Given the description of an element on the screen output the (x, y) to click on. 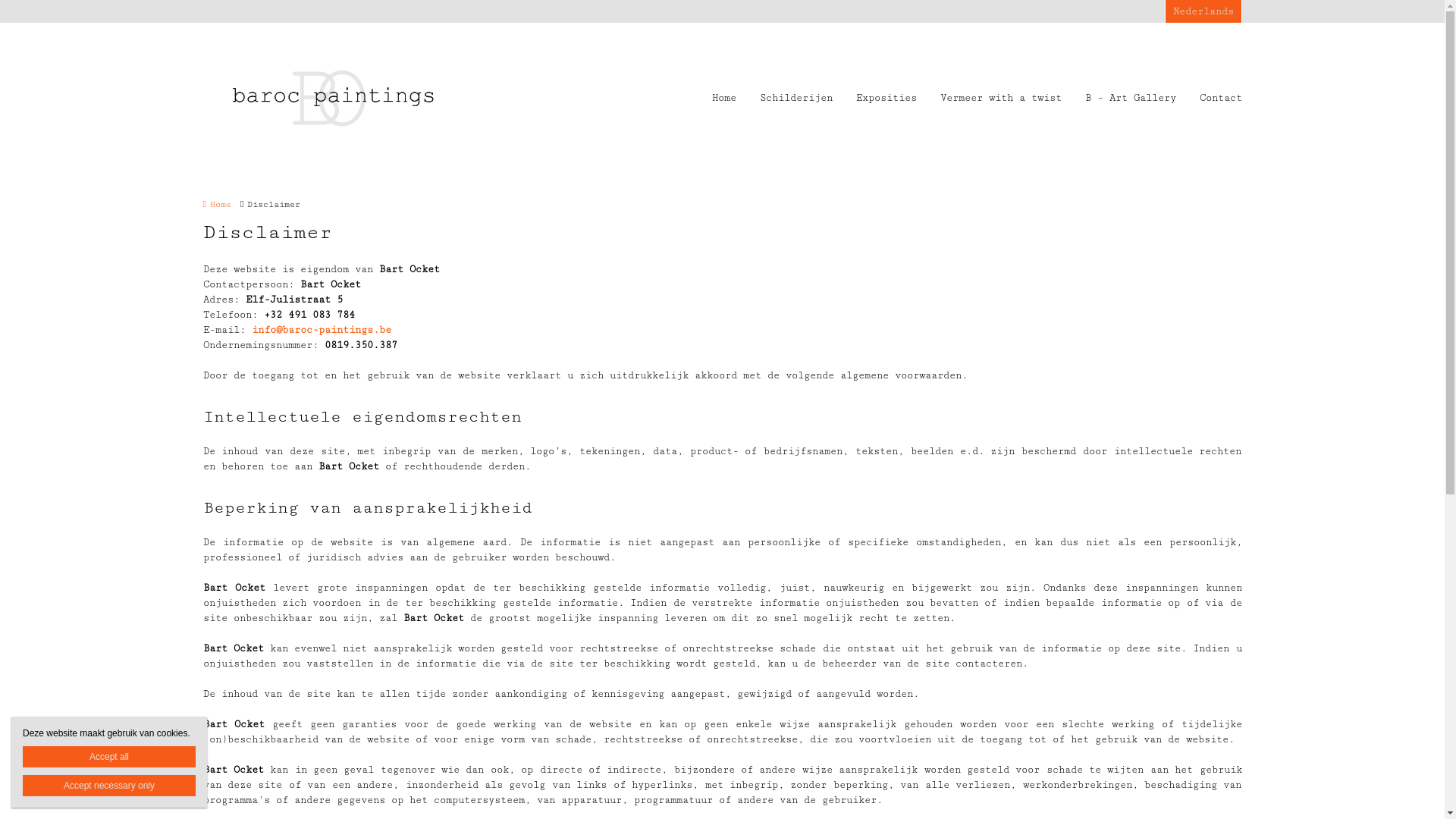
Home | Baroc Paintings Element type: hover (354, 98)
B - Art Gallery Element type: text (1129, 98)
Home | Baroc Paintings Element type: hover (331, 98)
Accept necessary only Element type: text (108, 785)
Accept all Element type: text (108, 756)
Contact Element type: text (1220, 98)
Exposities Element type: text (885, 98)
Home Element type: text (217, 204)
Home Element type: text (723, 98)
Nederlands Element type: text (1202, 11)
Overslaan en naar de inhoud gaan Element type: text (81, 0)
Schilderijen Element type: text (795, 98)
Vermeer with a twist Element type: text (1000, 98)
info@baroc-paintings.be Element type: text (321, 329)
